Given the description of an element on the screen output the (x, y) to click on. 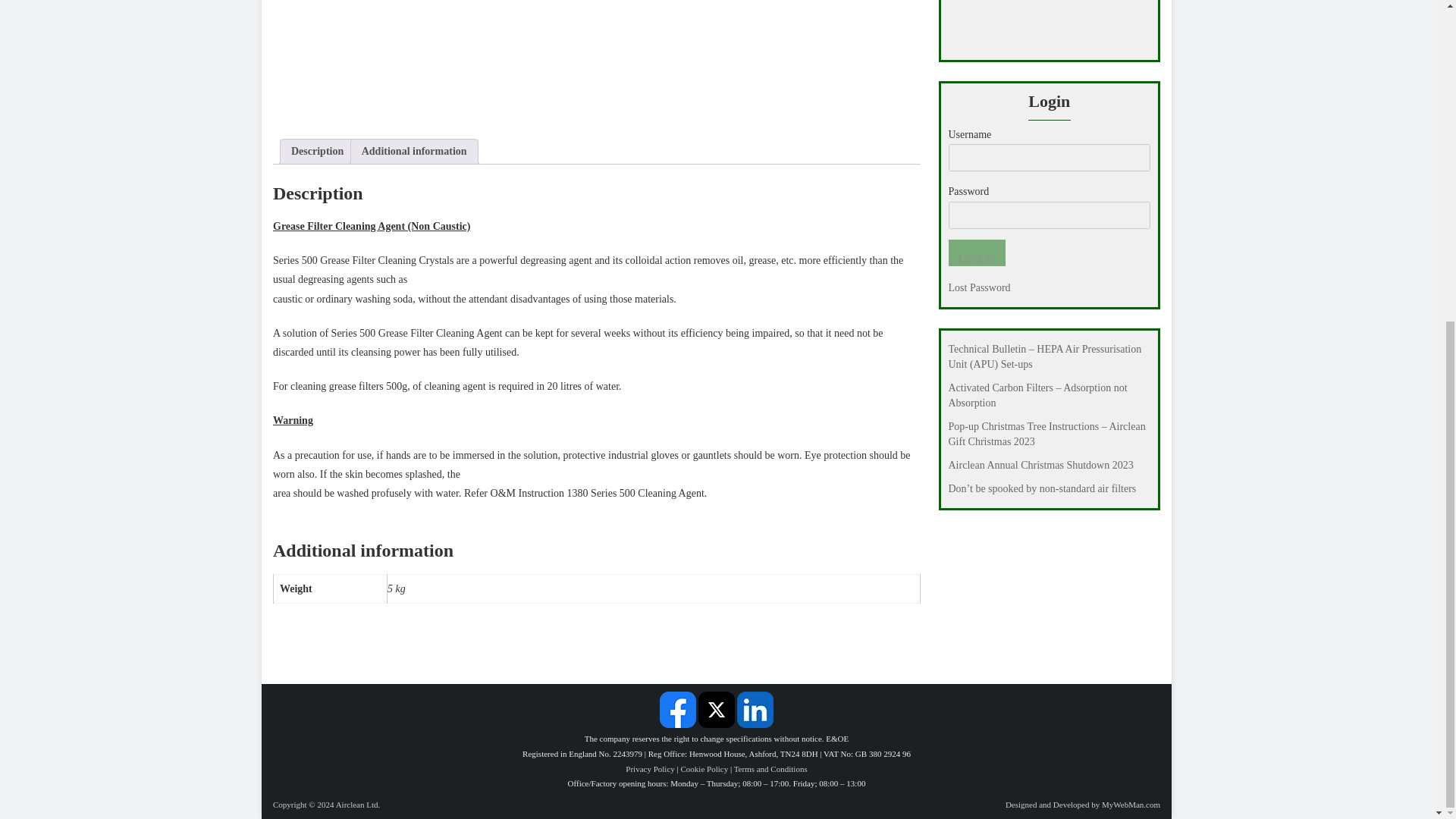
Log In (975, 252)
